Given the description of an element on the screen output the (x, y) to click on. 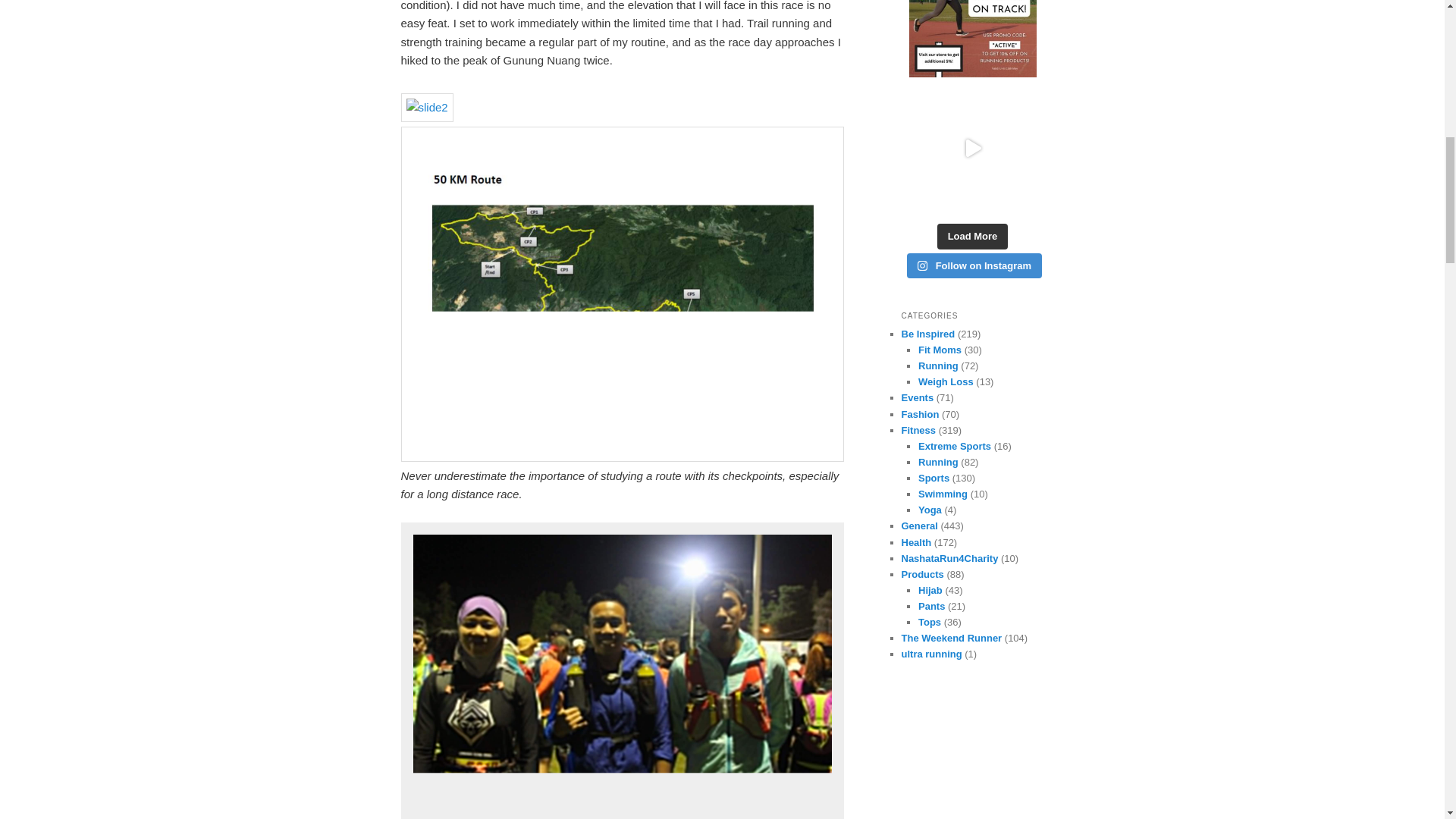
Sporting actiivities (933, 478)
